Given the description of an element on the screen output the (x, y) to click on. 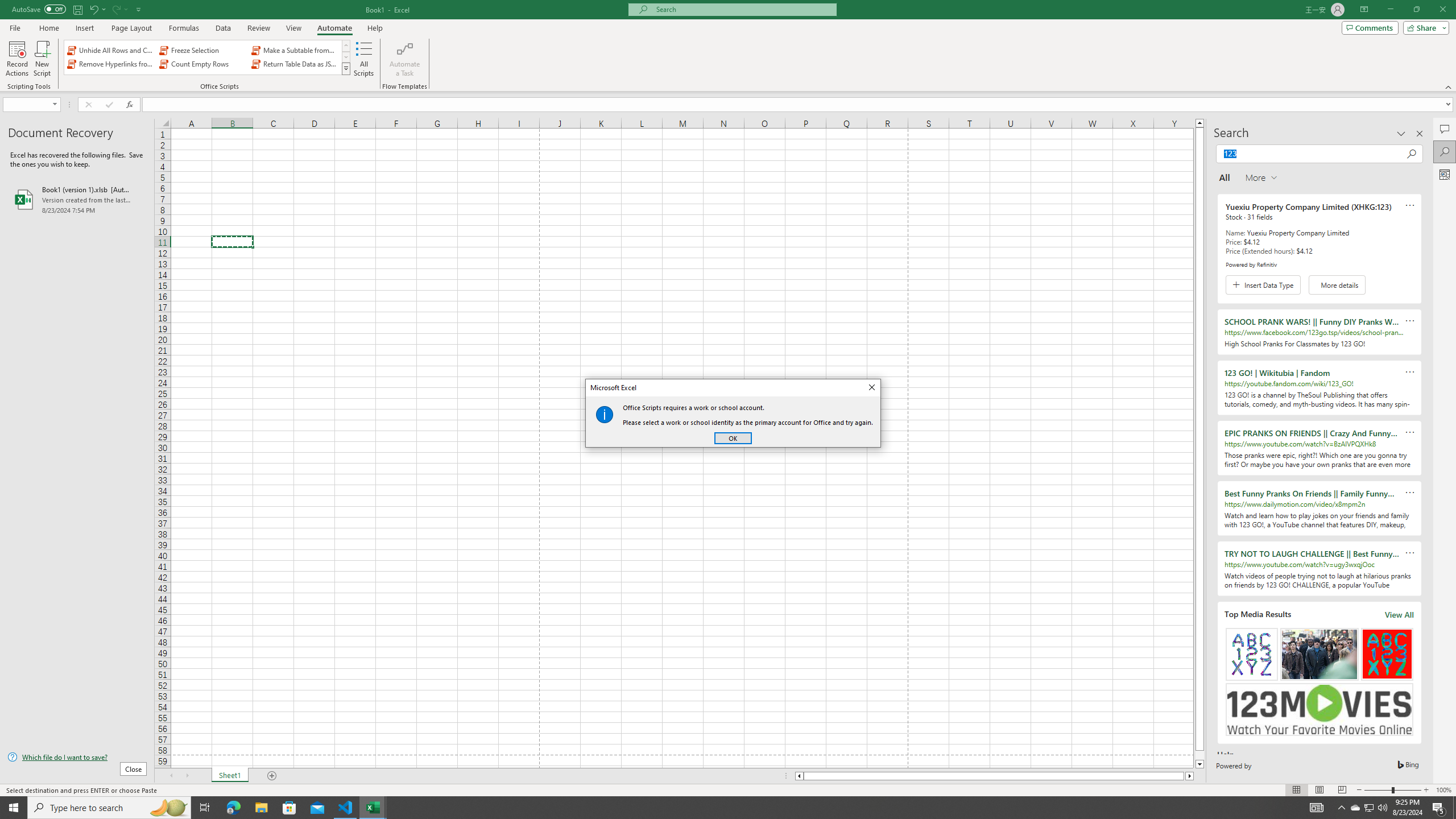
Automate a Task (404, 58)
Return Table Data as JSON (294, 64)
